Given the description of an element on the screen output the (x, y) to click on. 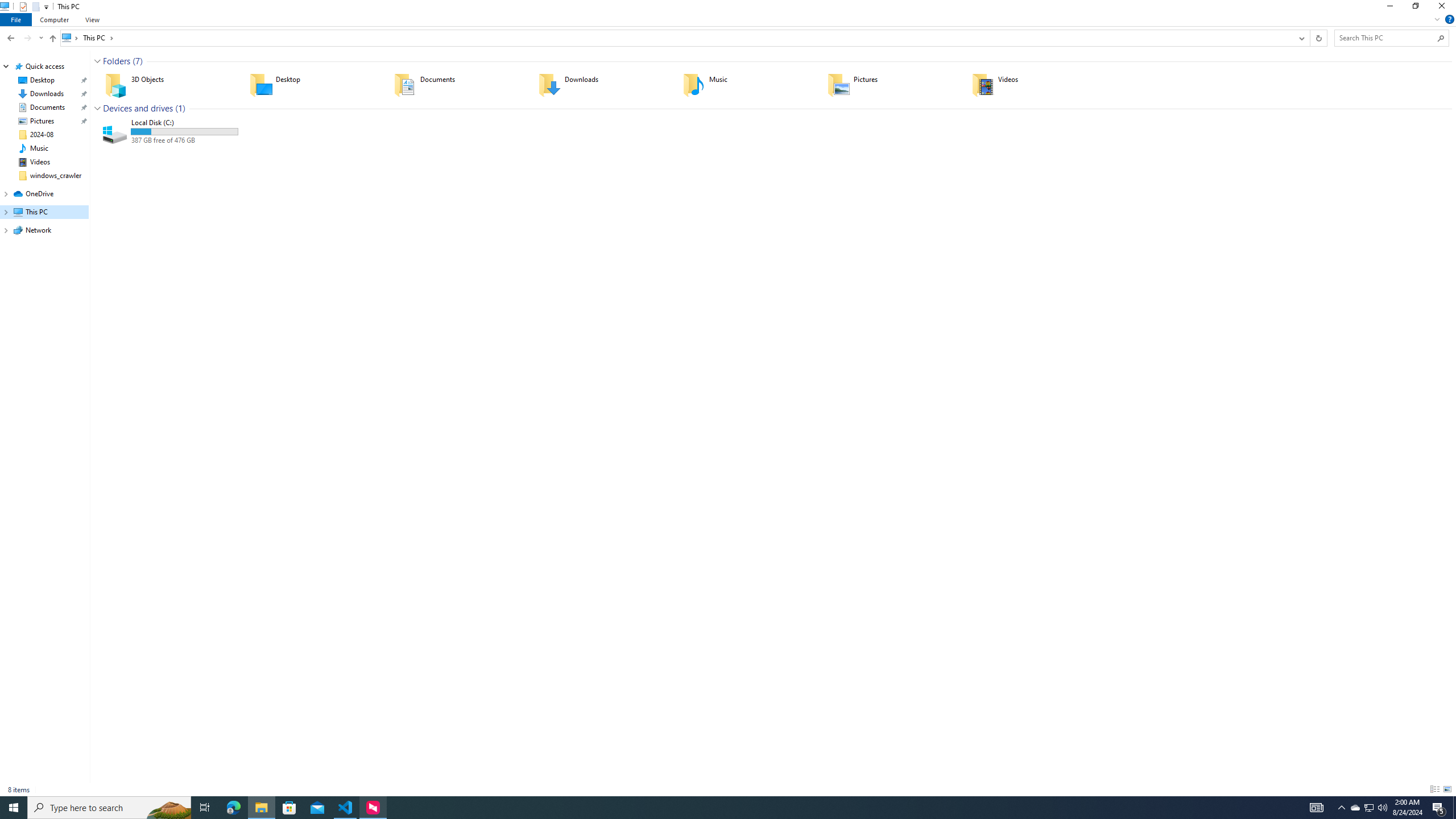
Help (1449, 19)
Minimize (1388, 8)
Customize Quick Access Toolbar (45, 6)
Local Disk (C:) (170, 131)
Documents (458, 84)
Large Icons (1447, 789)
Name (183, 122)
Class: UIImage (115, 131)
Details (1434, 789)
Address band toolbar (1309, 37)
Refresh "This PC" (F5) (1318, 37)
Restore (1415, 8)
This PC (98, 37)
Address: This PC (676, 37)
Downloads (603, 84)
